Given the description of an element on the screen output the (x, y) to click on. 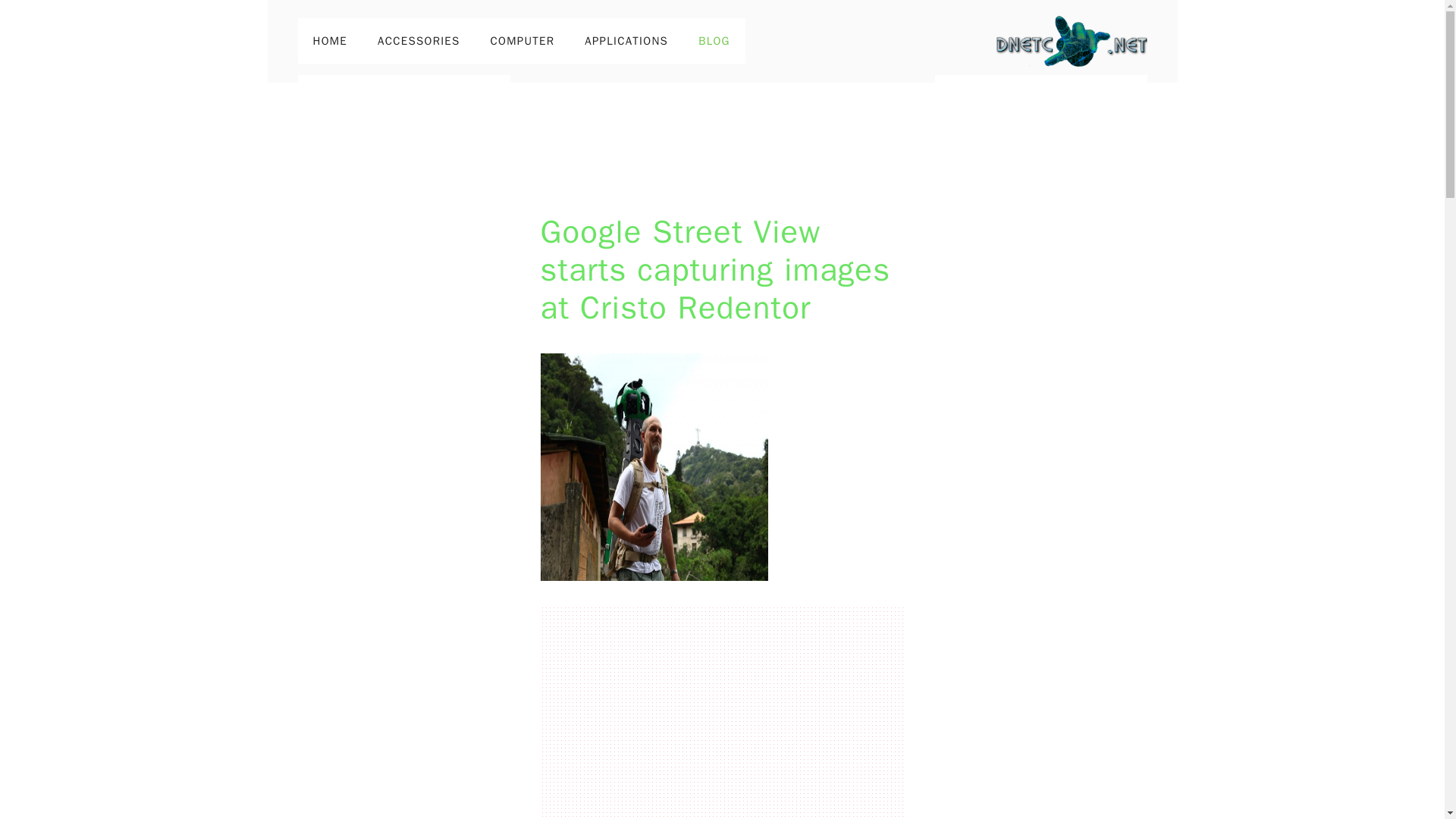
COMPUTER (523, 40)
APPLICATIONS (625, 40)
BLOG (713, 40)
HOME (329, 40)
ACCESSORIES (419, 40)
